Given the description of an element on the screen output the (x, y) to click on. 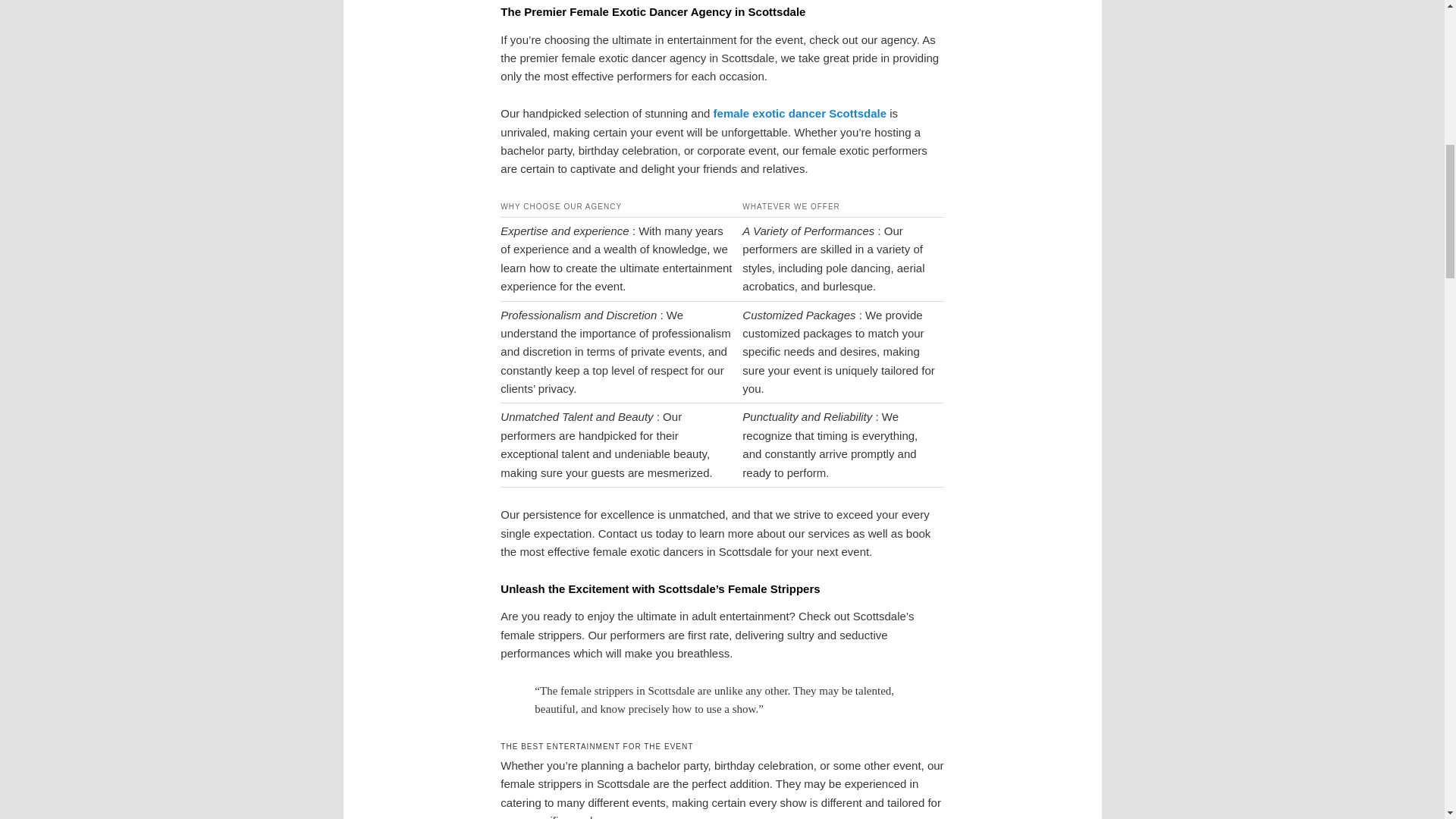
female exotic dancer Scottsdale (799, 113)
